Given the description of an element on the screen output the (x, y) to click on. 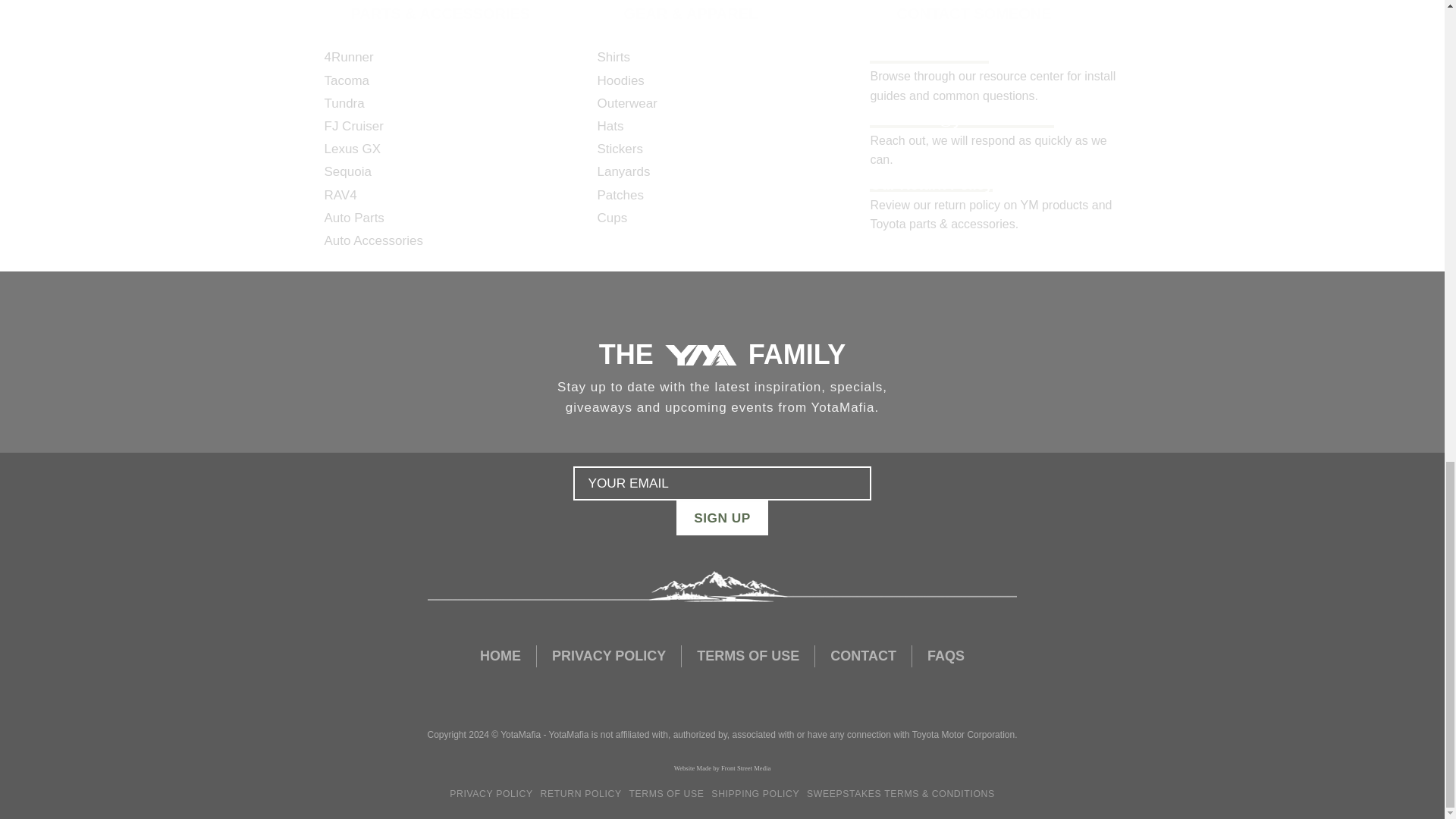
Sign Up (722, 517)
